Given the description of an element on the screen output the (x, y) to click on. 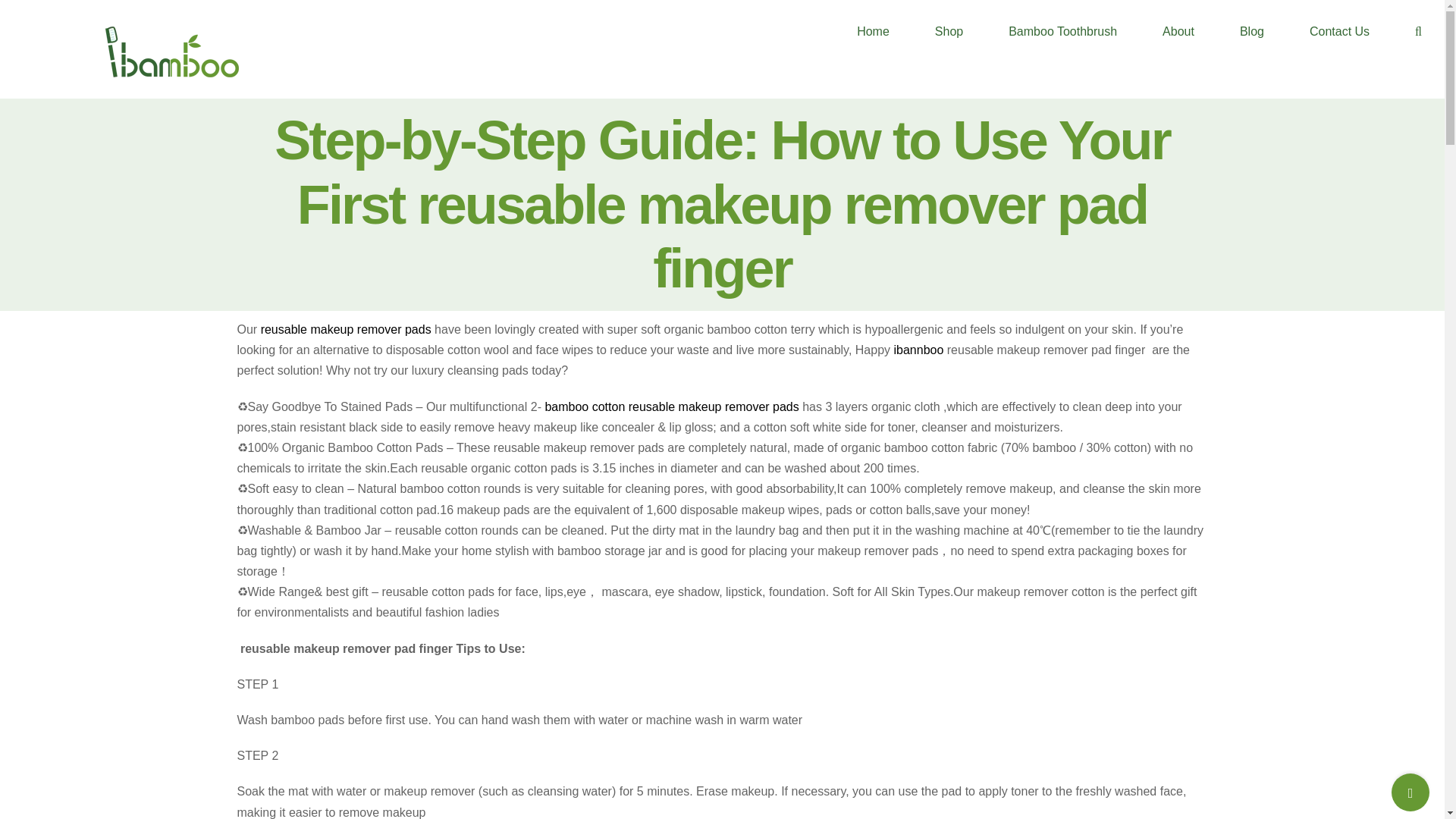
reusable makeup remover pads (345, 328)
ibannboo (916, 349)
Contact Us (1339, 31)
bamboo cotton reusable makeup remover pads (670, 406)
Bamboo Toothbrush (1062, 31)
